Given the description of an element on the screen output the (x, y) to click on. 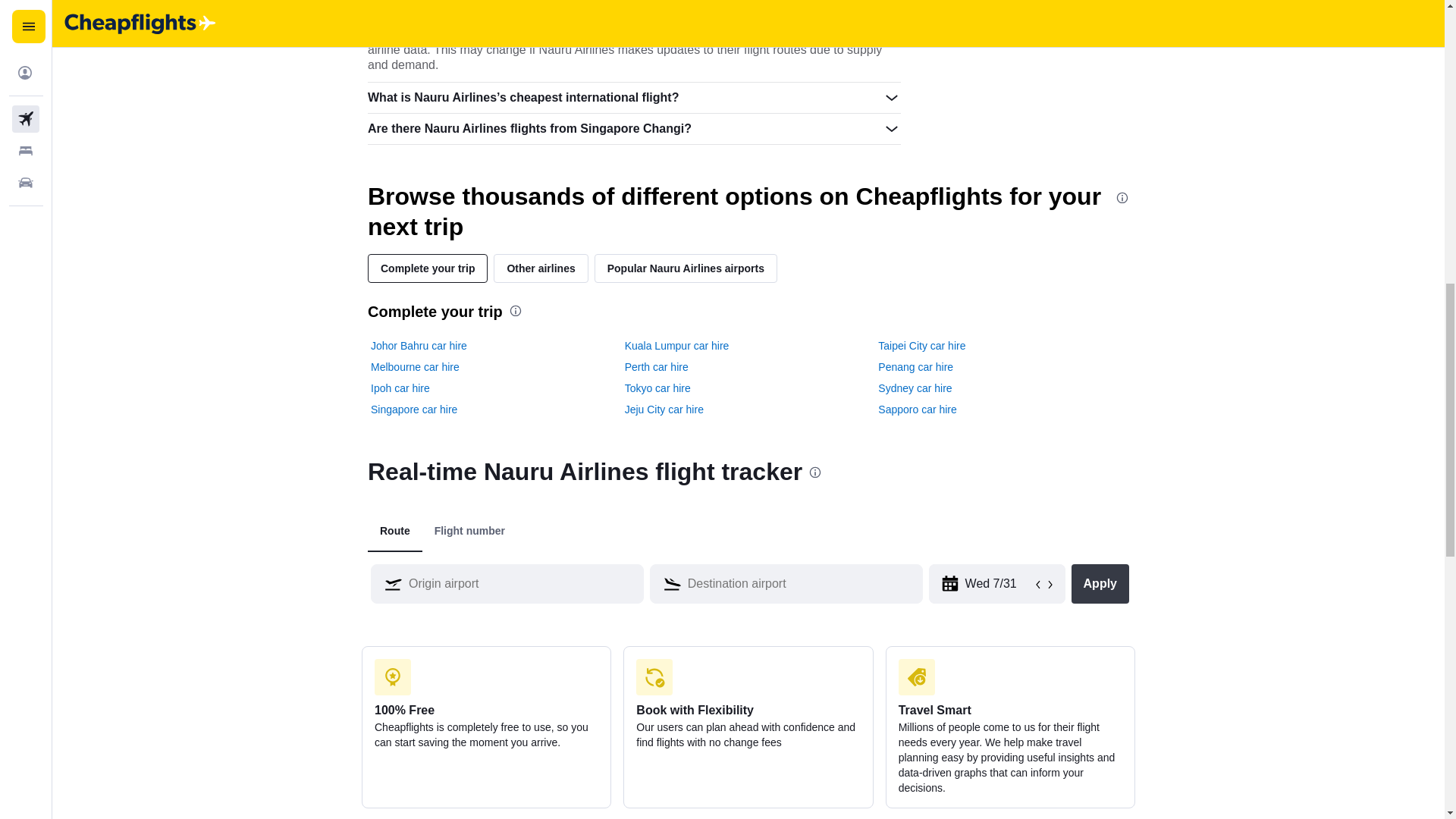
Johor Bahru car hire (419, 345)
Ipoh car hire (400, 387)
Sapporo car hire (916, 409)
Complete your trip (427, 267)
Sydney car hire (914, 387)
Kuala Lumpur car hire (676, 345)
Taipei City car hire (921, 345)
Penang car hire (915, 366)
Singapore car hire (414, 409)
Perth car hire (656, 366)
Tokyo car hire (657, 387)
Jeju City car hire (663, 409)
Melbourne car hire (415, 366)
Other airlines (540, 267)
Popular Nauru Airlines airports (685, 267)
